Given the description of an element on the screen output the (x, y) to click on. 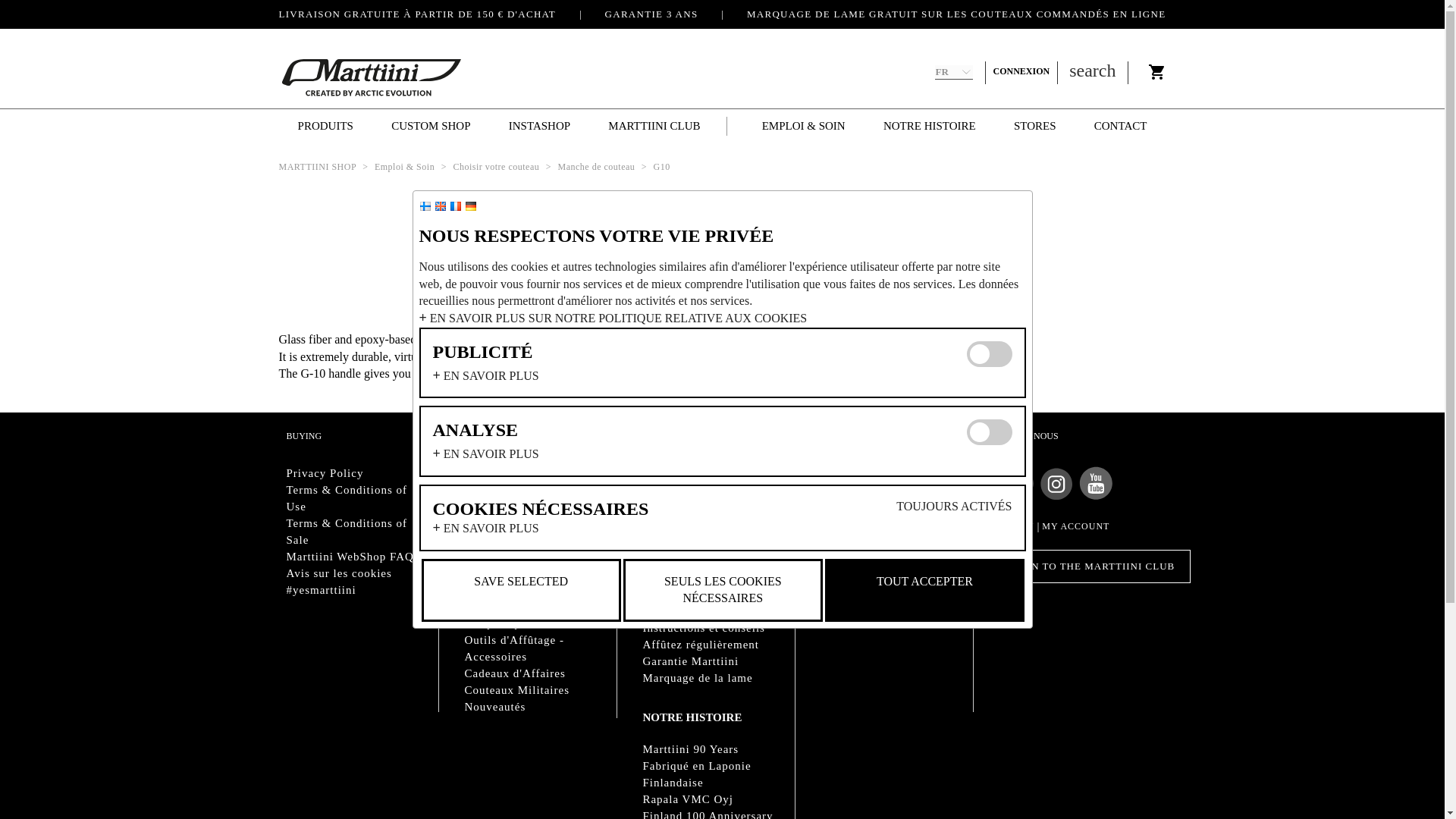
Changer de langue: English (439, 205)
Changer de langue: Deutsch (470, 205)
CONNEXION (1025, 71)
CUSTOM SHOP (430, 125)
NOTRE HISTOIRE (929, 125)
STORES (1035, 125)
MARTTIINI CLUB (654, 125)
Changer de langue: Suomi (424, 205)
INSTASHOP (539, 125)
PRODUITS (325, 125)
Marttiini (371, 76)
